Given the description of an element on the screen output the (x, y) to click on. 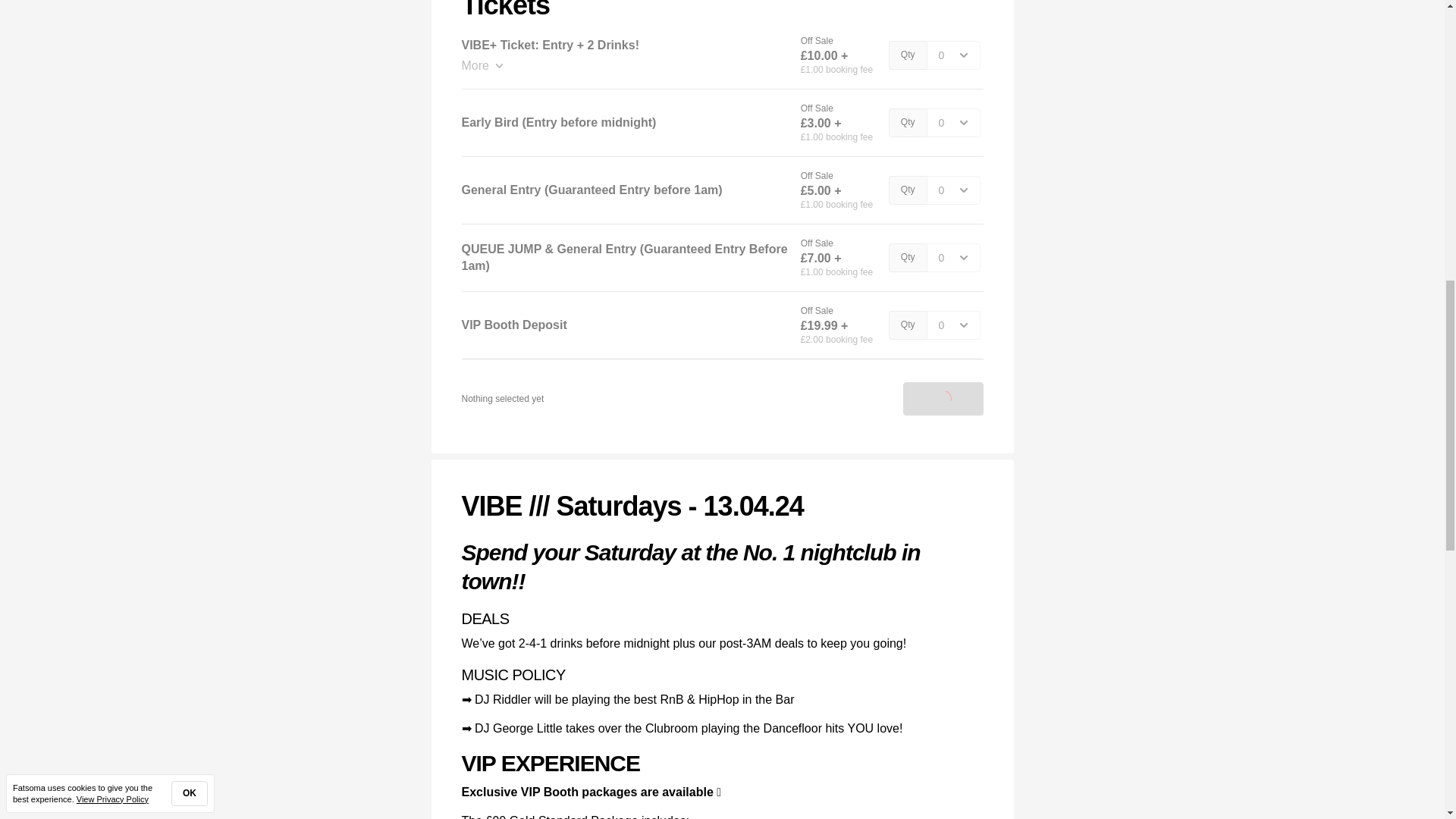
More (624, 65)
Loading... (943, 398)
